Given the description of an element on the screen output the (x, y) to click on. 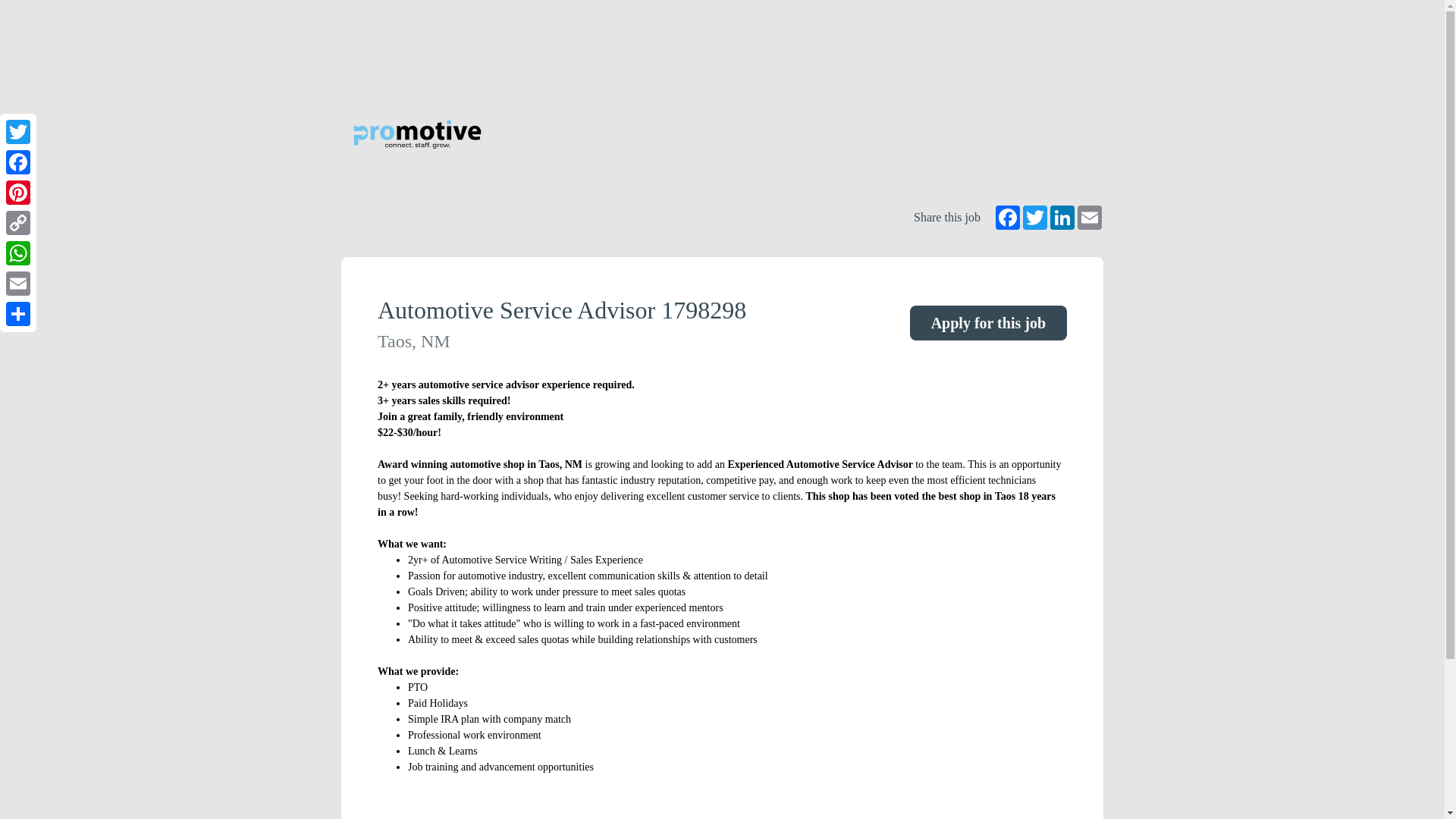
Facebook (17, 162)
Twitter (17, 132)
Pinterest (17, 192)
LinkedIn (1061, 217)
Copy Link (17, 223)
Email (1089, 217)
WhatsApp (17, 253)
Twitter (1035, 217)
Apply for this job (988, 322)
Email (17, 283)
